Given the description of an element on the screen output the (x, y) to click on. 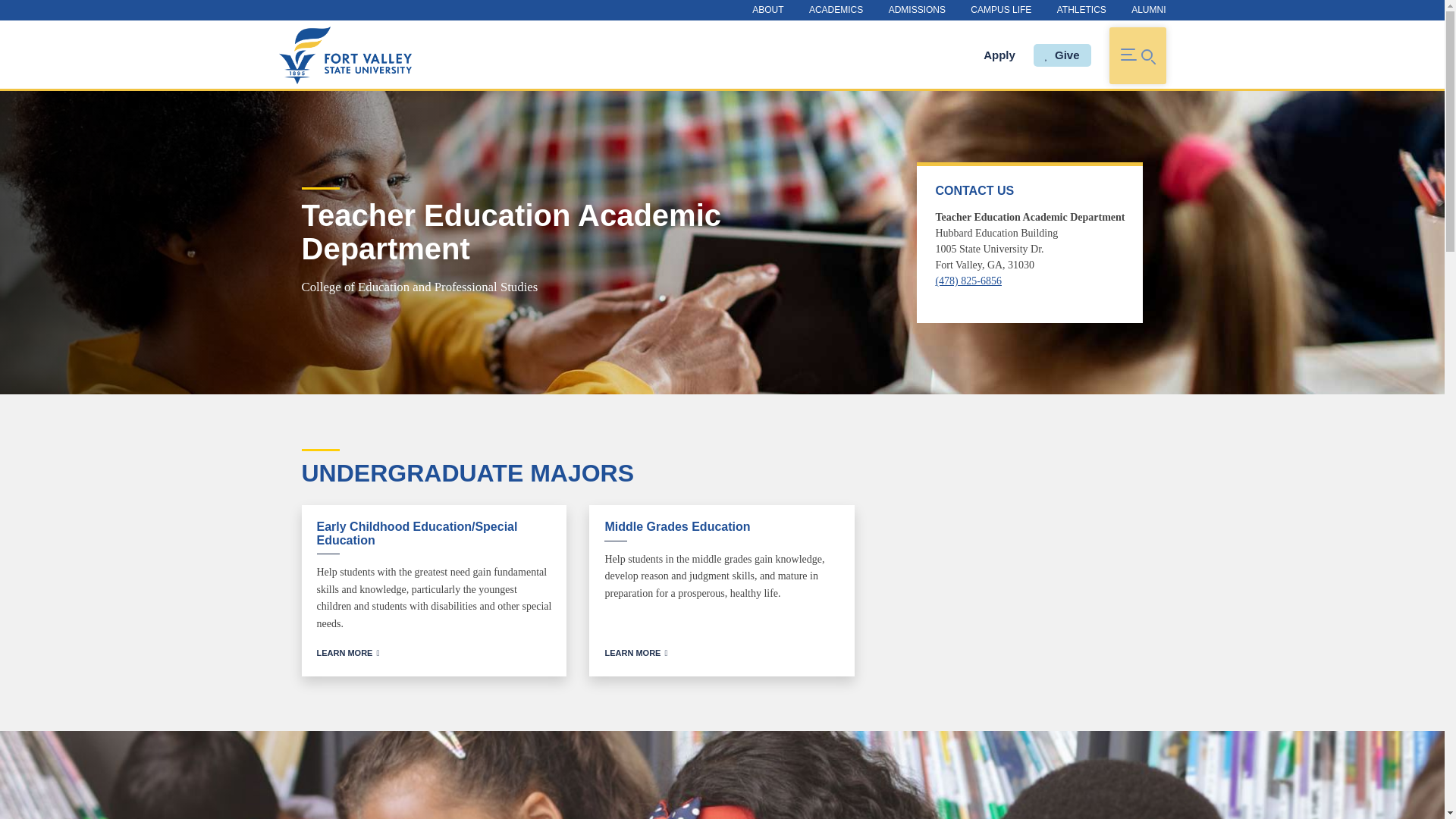
ABOUT (767, 10)
ADMISSIONS (916, 10)
ACADEMICS (836, 10)
ALUMNI (1142, 10)
Apply (999, 54)
ATHLETICS (1081, 10)
CAMPUS LIFE (1000, 10)
Give (1061, 55)
